Given the description of an element on the screen output the (x, y) to click on. 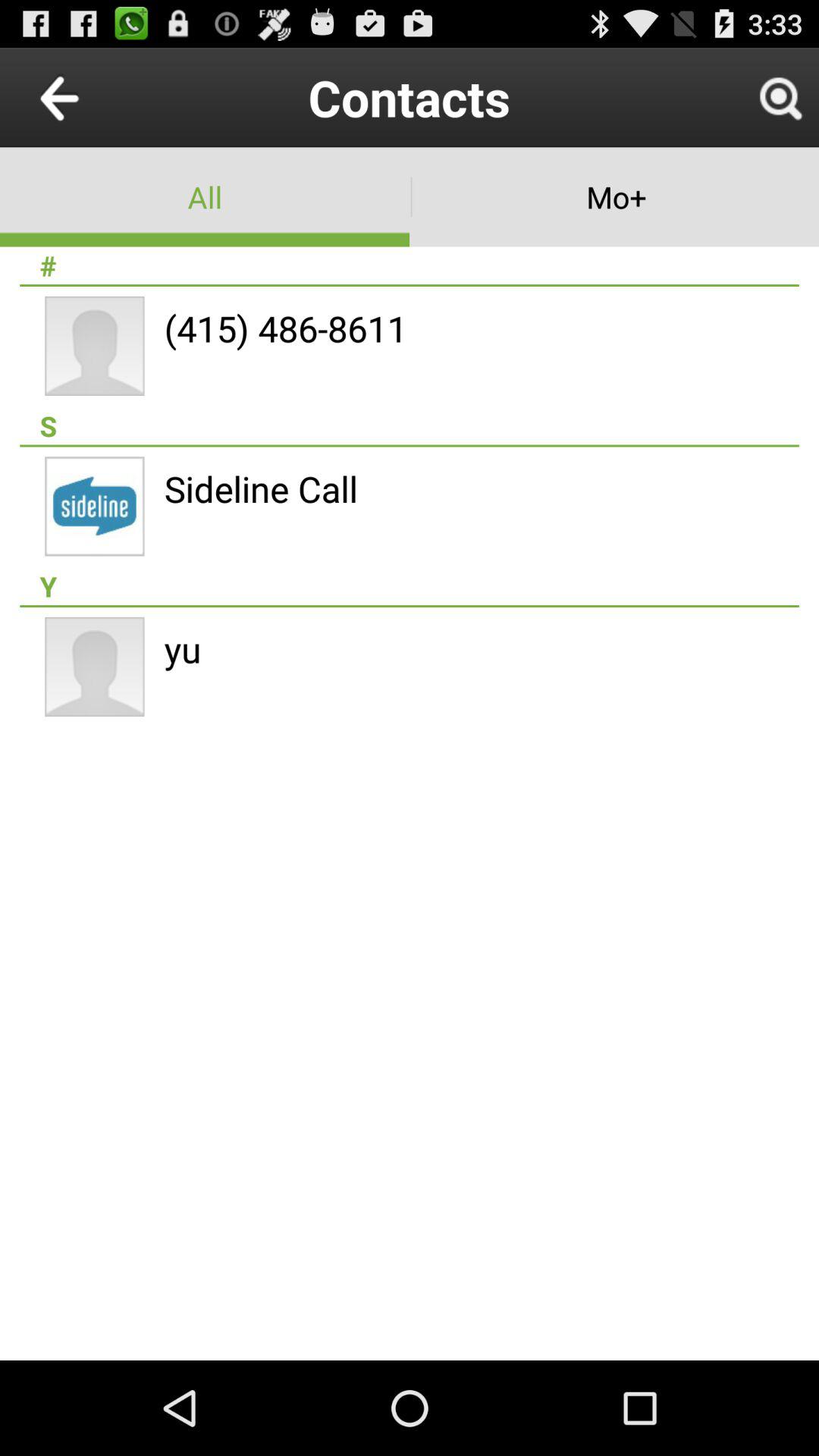
turn off icon next to the all app (614, 196)
